Given the description of an element on the screen output the (x, y) to click on. 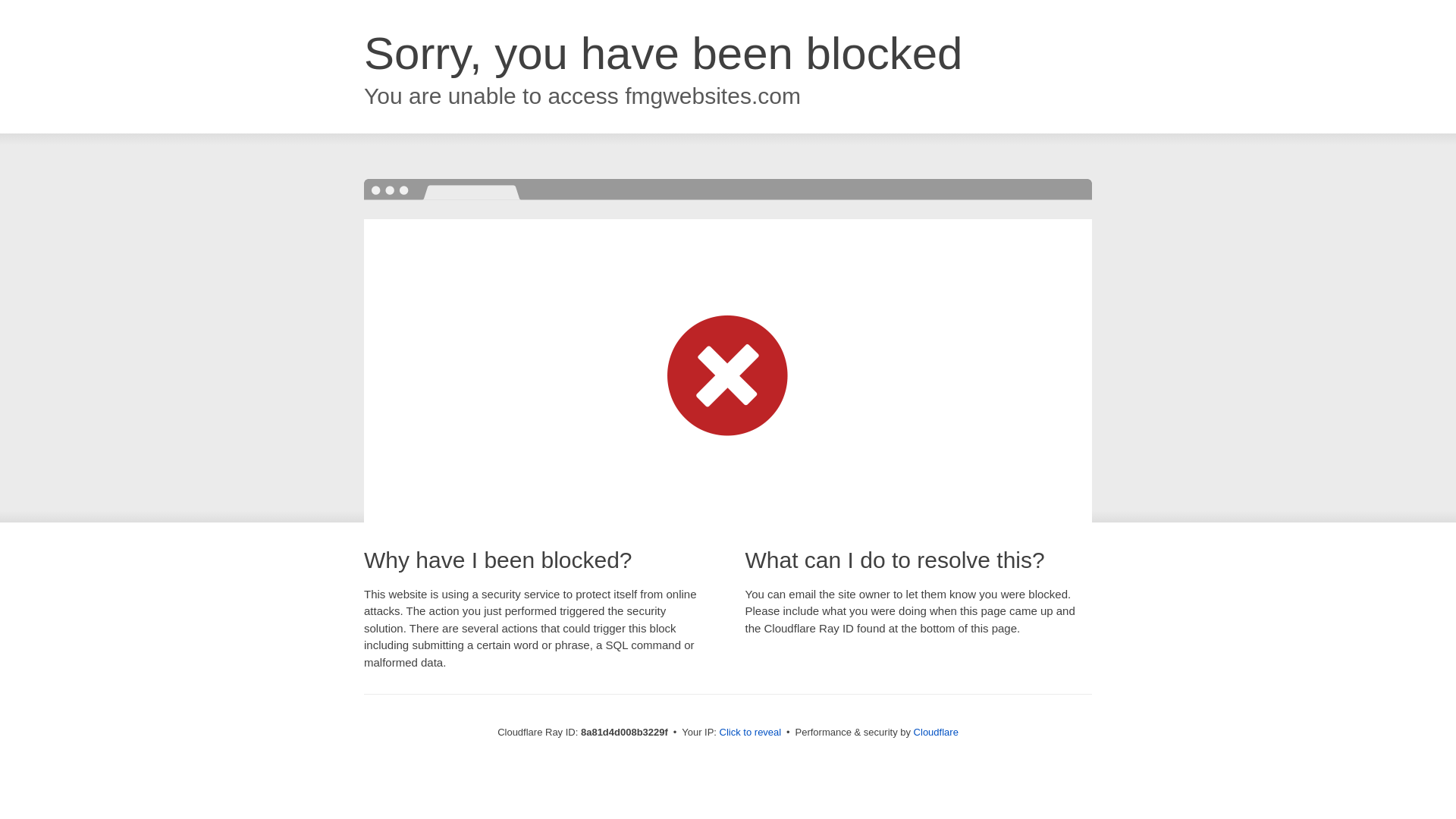
Cloudflare (936, 731)
Click to reveal (750, 732)
